Given the description of an element on the screen output the (x, y) to click on. 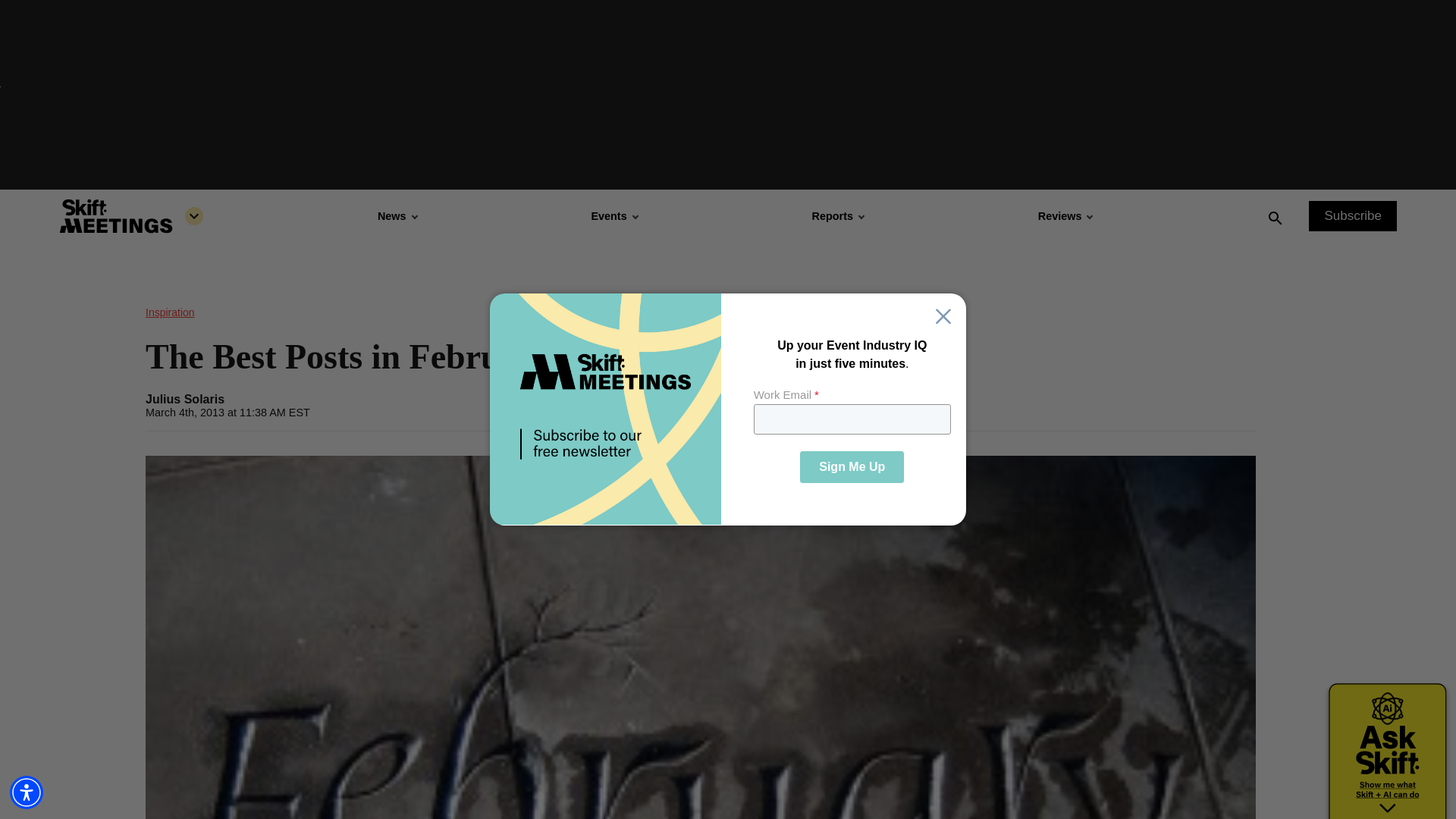
Subscribe (1352, 215)
Popup CTA (727, 409)
Reports (837, 215)
Accessibility Menu (26, 792)
Reviews (1065, 215)
